Given the description of an element on the screen output the (x, y) to click on. 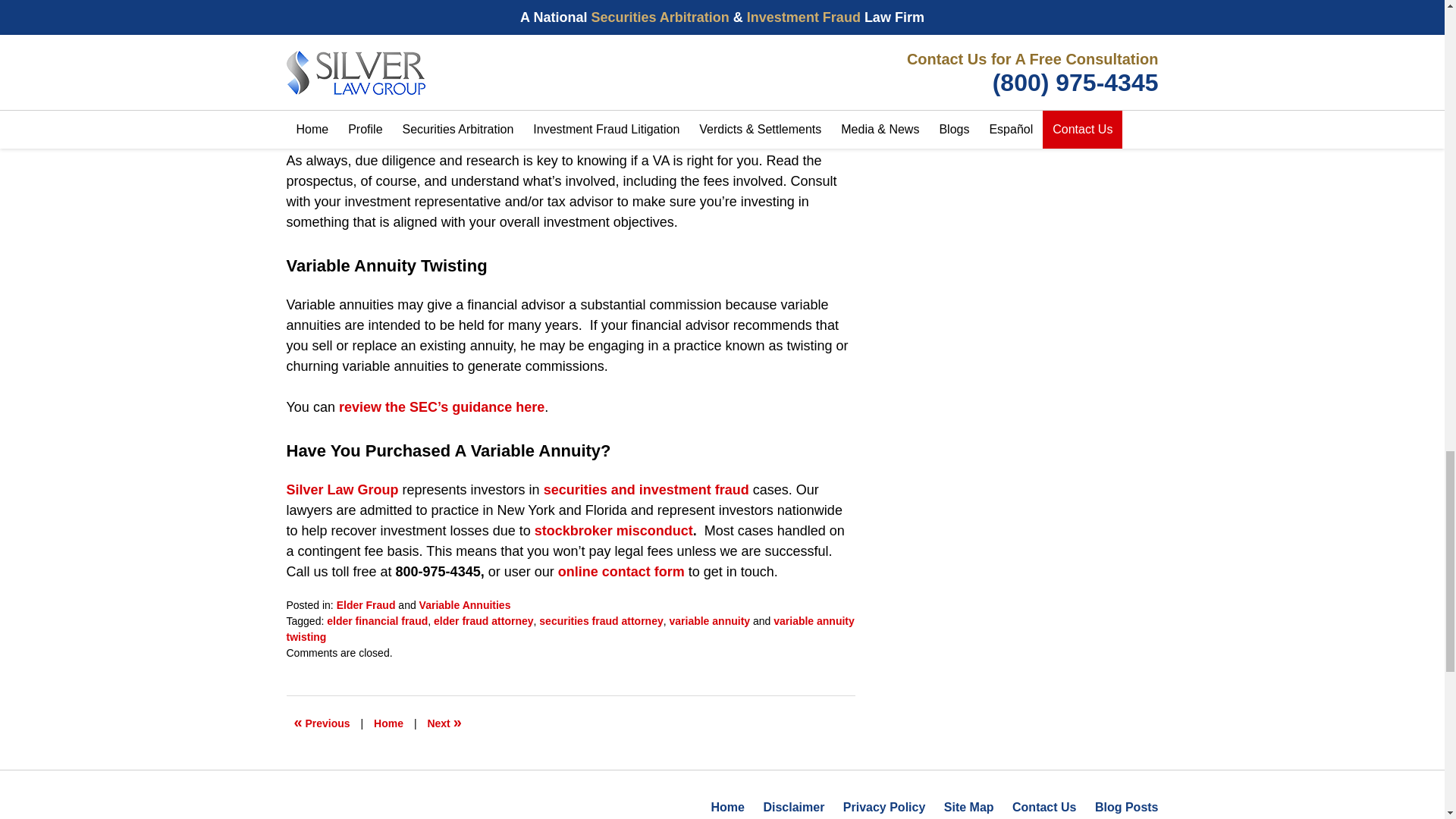
National Securities Corporation Stockbroker Ronald Rothchild (322, 723)
Silver Law Group (342, 489)
View all posts in Elder Fraud (366, 604)
View all posts tagged with elder fraud attorney (482, 621)
View all posts tagged with variable annuity (708, 621)
View all posts tagged with securities fraud attorney (600, 621)
securities and investment fraud (646, 489)
View all posts tagged with variable annuity twisting (570, 628)
View all posts tagged with elder financial fraud (377, 621)
View all posts in Variable Annuities (465, 604)
